Given the description of an element on the screen output the (x, y) to click on. 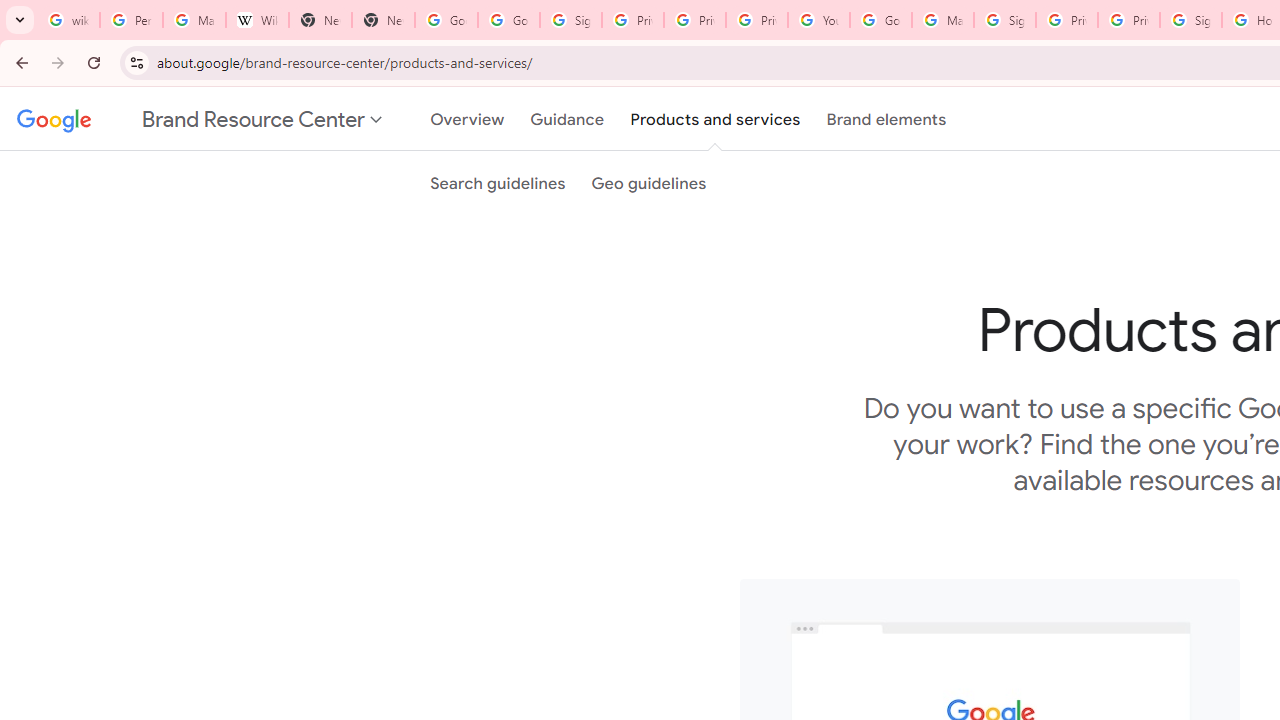
Geo guidelines (648, 183)
Sign in - Google Accounts (1004, 20)
Google (50, 119)
Google site switcher (200, 119)
Google Drive: Sign-in (508, 20)
Google Account Help (880, 20)
Manage your Location History - Google Search Help (194, 20)
